Given the description of an element on the screen output the (x, y) to click on. 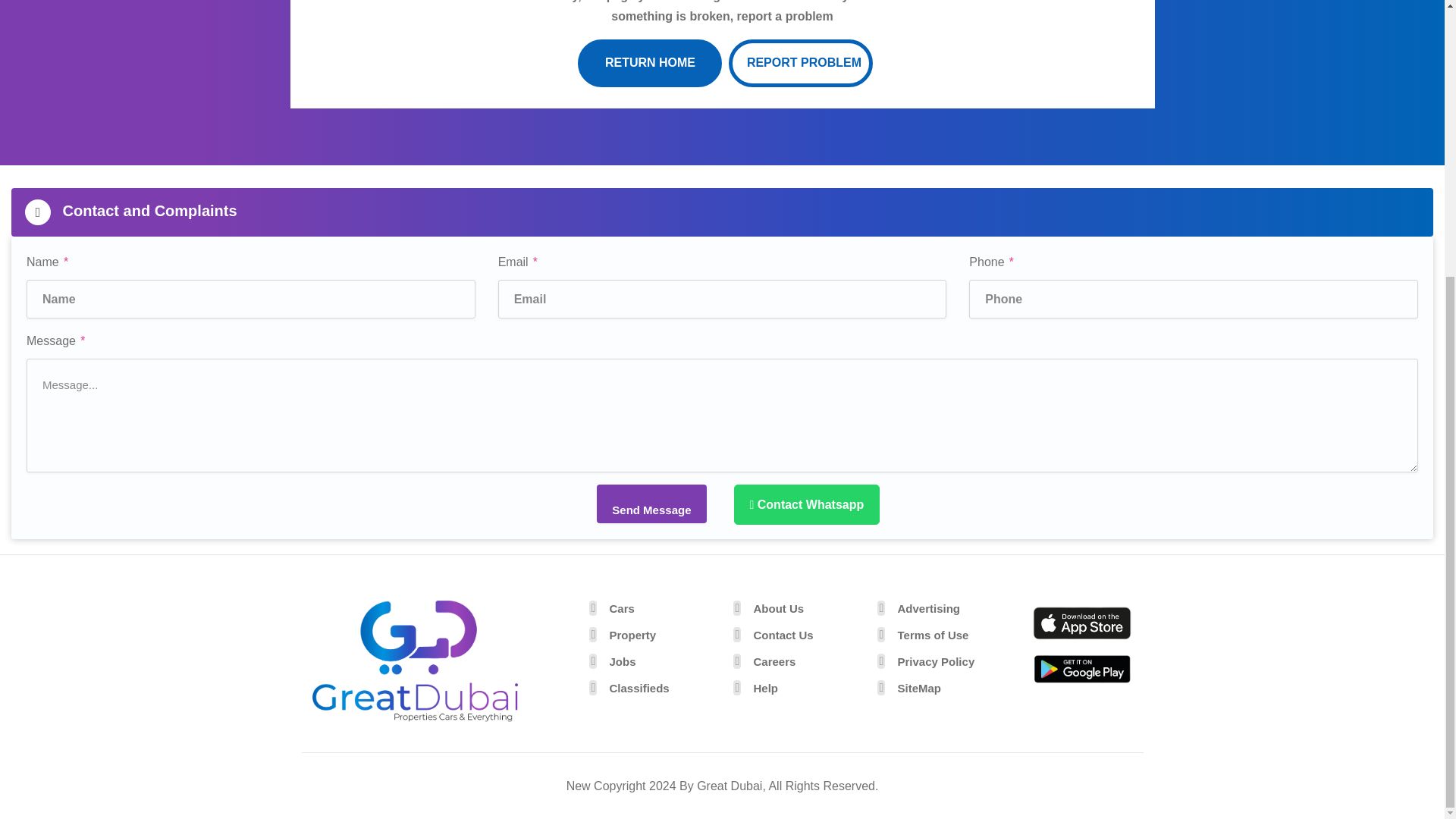
Send Message (651, 503)
Whatsapp Now (806, 504)
